Given the description of an element on the screen output the (x, y) to click on. 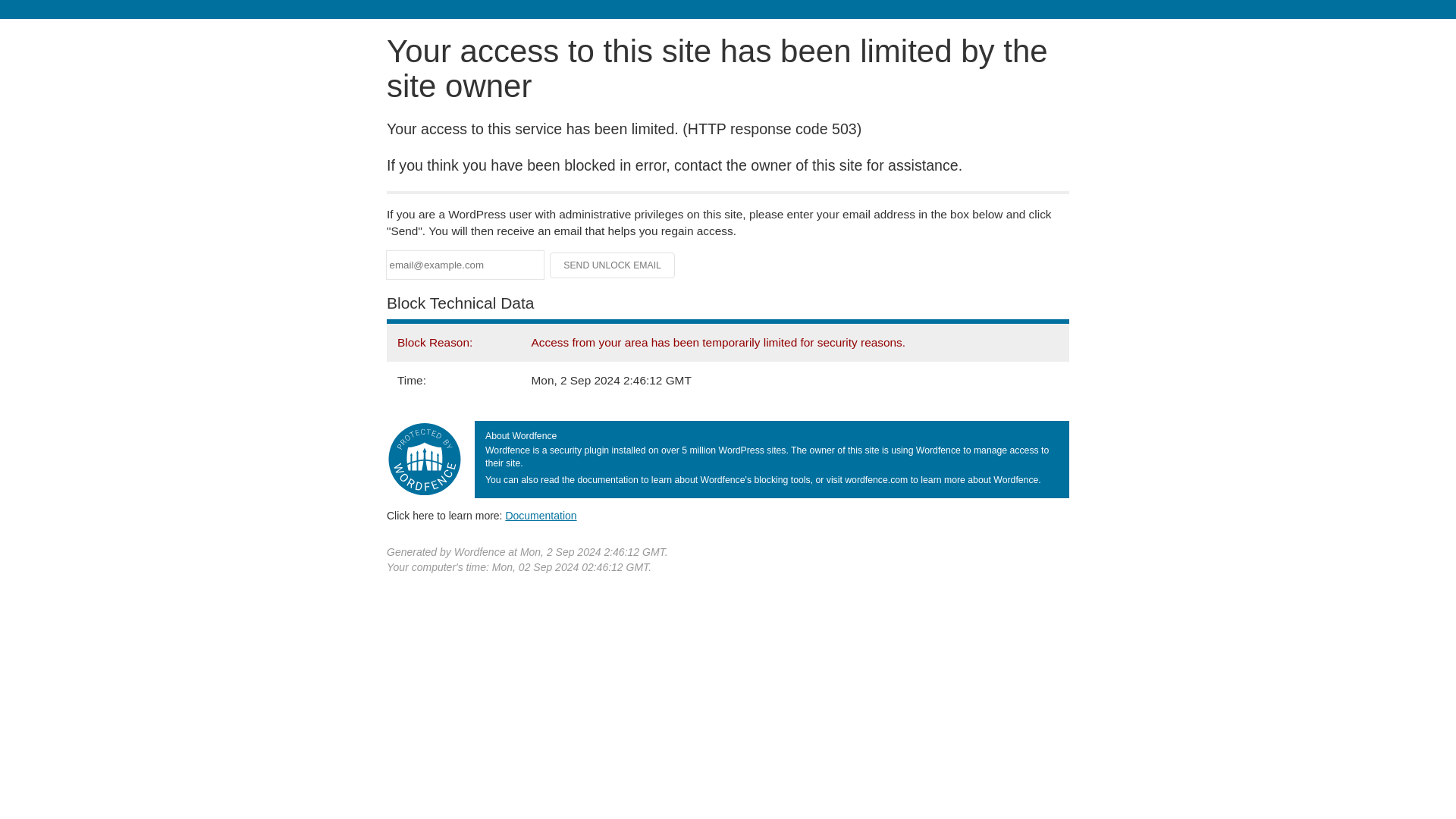
Send Unlock Email (612, 265)
Send Unlock Email (612, 265)
Documentation (540, 515)
